Given the description of an element on the screen output the (x, y) to click on. 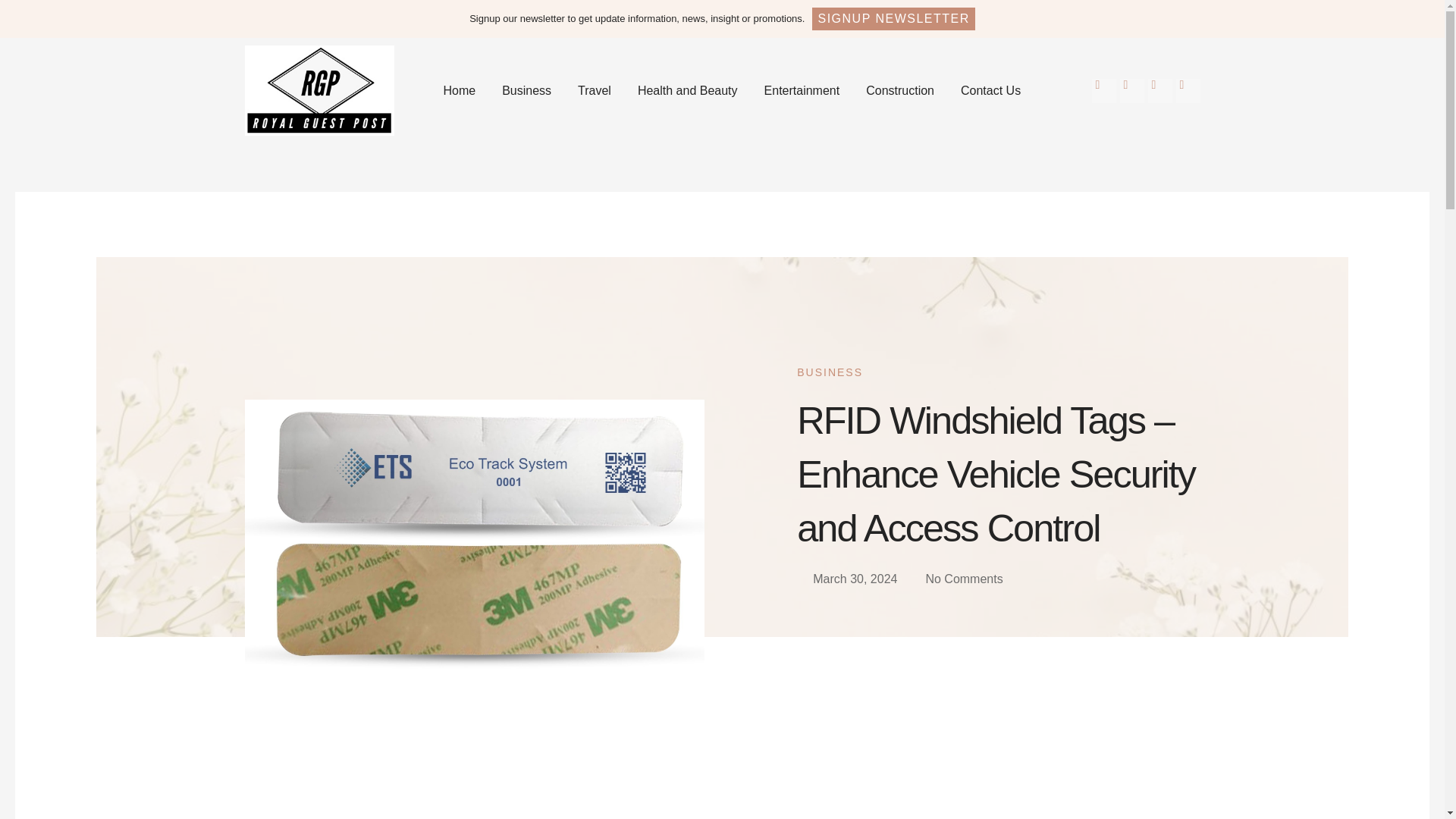
Construction (900, 90)
Health and Beauty (687, 90)
No Comments (955, 579)
Contact Us (990, 90)
BUSINESS (829, 372)
March 30, 2024 (846, 579)
Business (526, 90)
SIGNUP NEWSLETTER (893, 18)
Entertainment (802, 90)
